Given the description of an element on the screen output the (x, y) to click on. 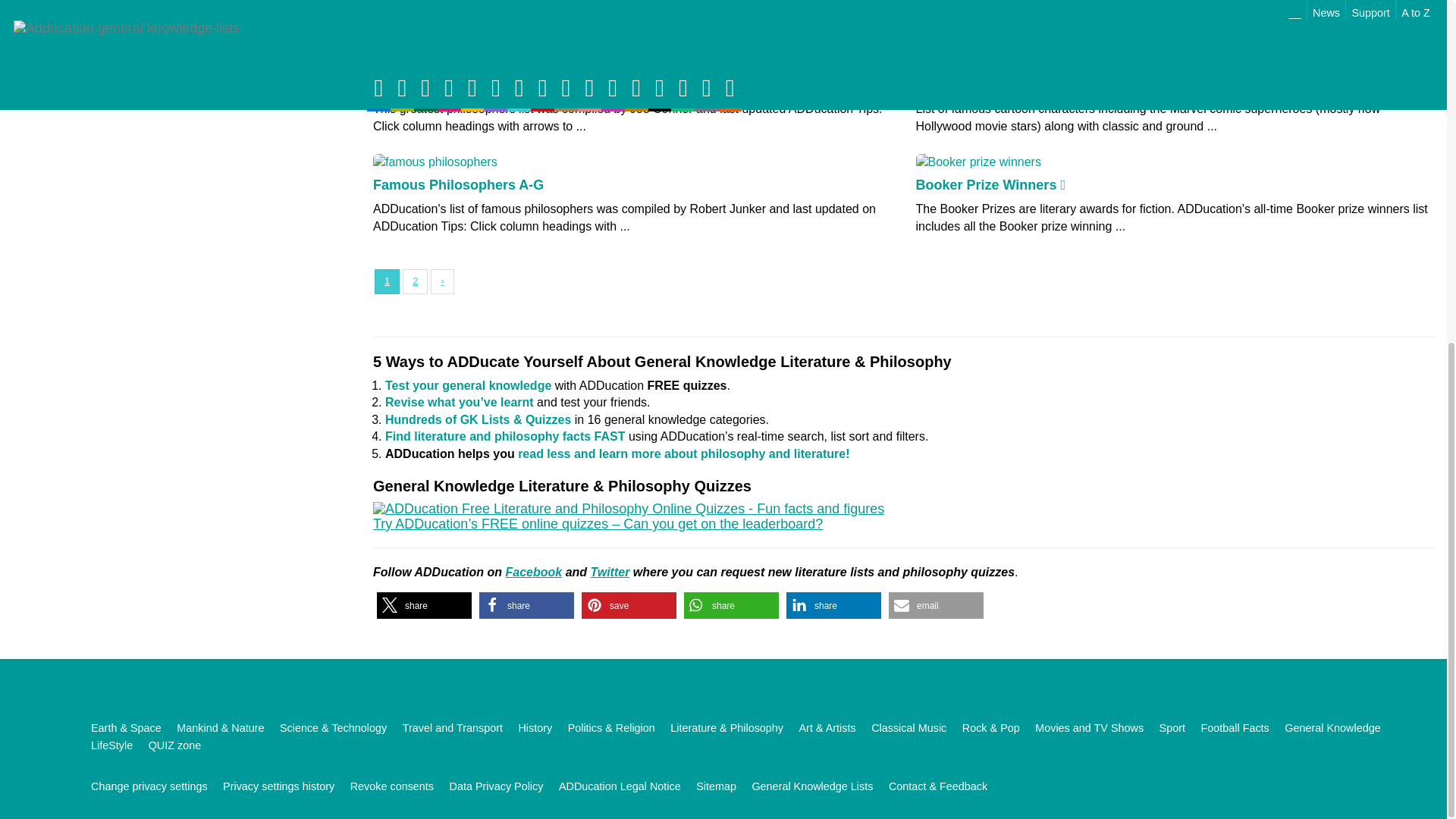
Pin it on Pinterest (628, 605)
Literature and Philosophy Quizzes (627, 516)
Share on X (424, 605)
Share on Facebook (526, 605)
